Given the description of an element on the screen output the (x, y) to click on. 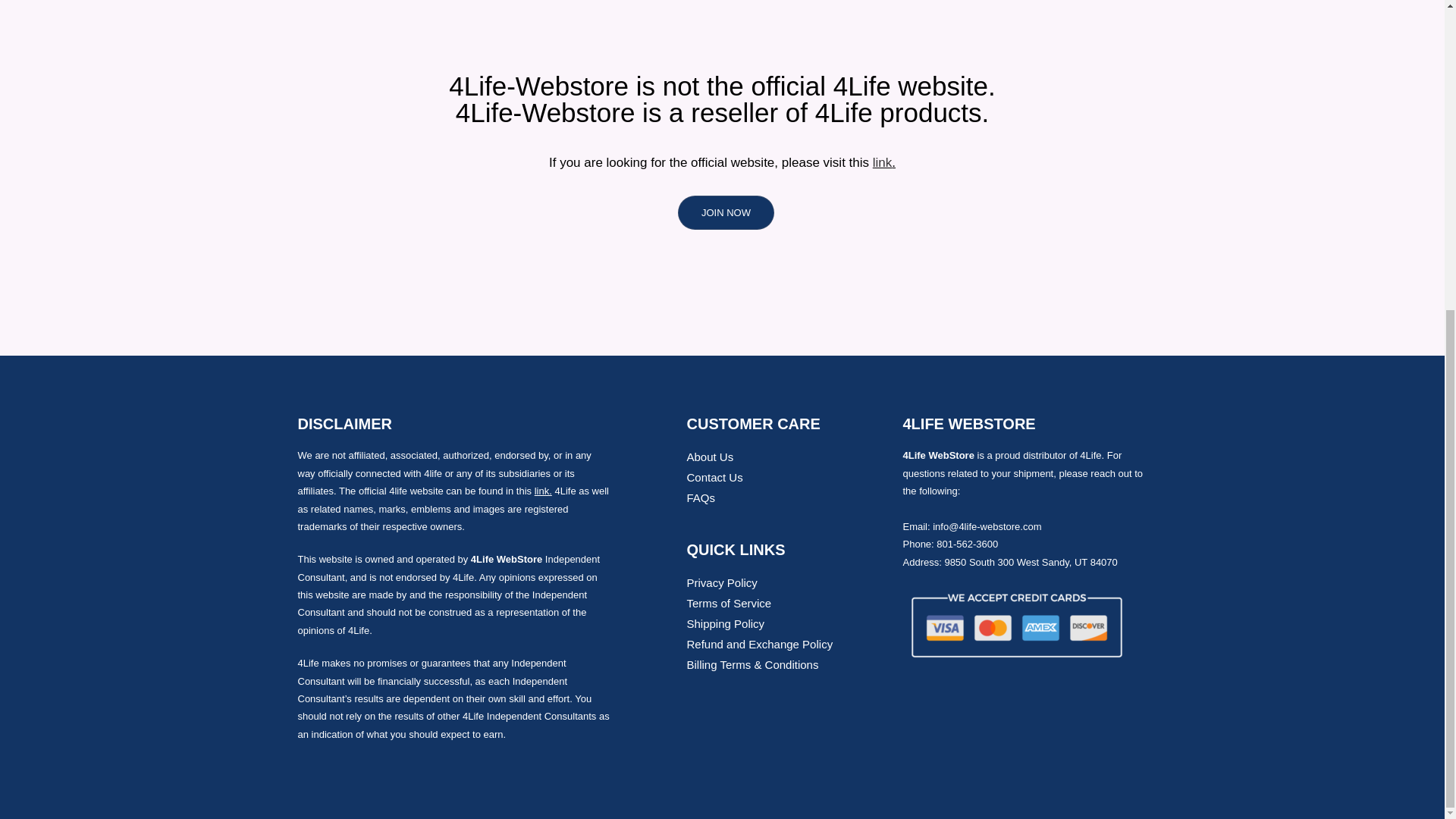
Shipping Policy (787, 623)
FAQs (787, 497)
link (882, 162)
link. (542, 490)
About Us (787, 456)
JOIN NOW (721, 212)
Privacy Policy (787, 582)
JOIN NOW (726, 212)
Contact Us (787, 476)
Terms of Service (787, 602)
